Given the description of an element on the screen output the (x, y) to click on. 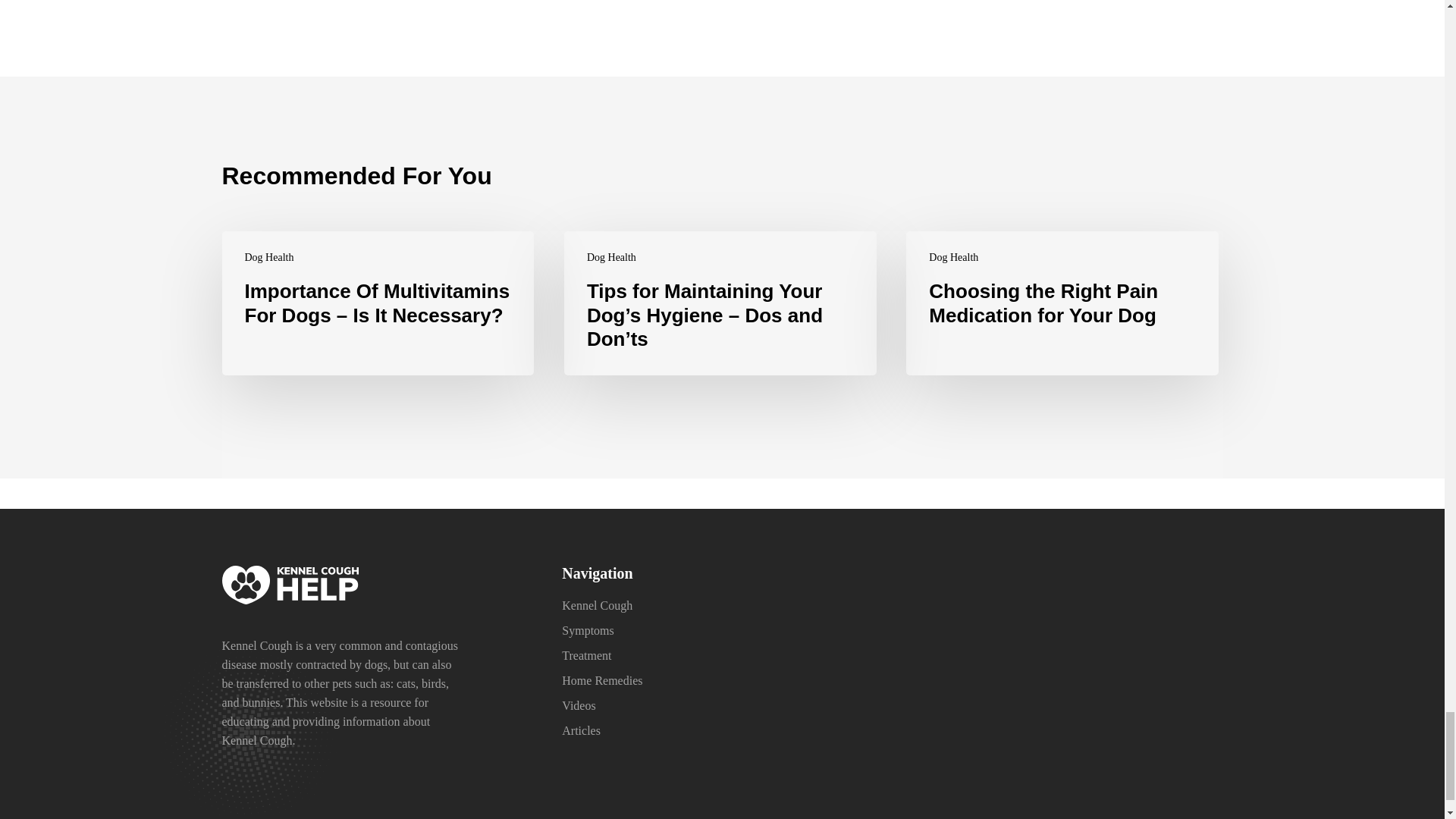
Dog Health (611, 257)
Treatment (586, 655)
Kennel Cough (596, 604)
Symptoms (587, 630)
Home Remedies (602, 680)
Dog Health (269, 257)
Dog Health (953, 257)
Videos (578, 705)
Articles (580, 730)
